Given the description of an element on the screen output the (x, y) to click on. 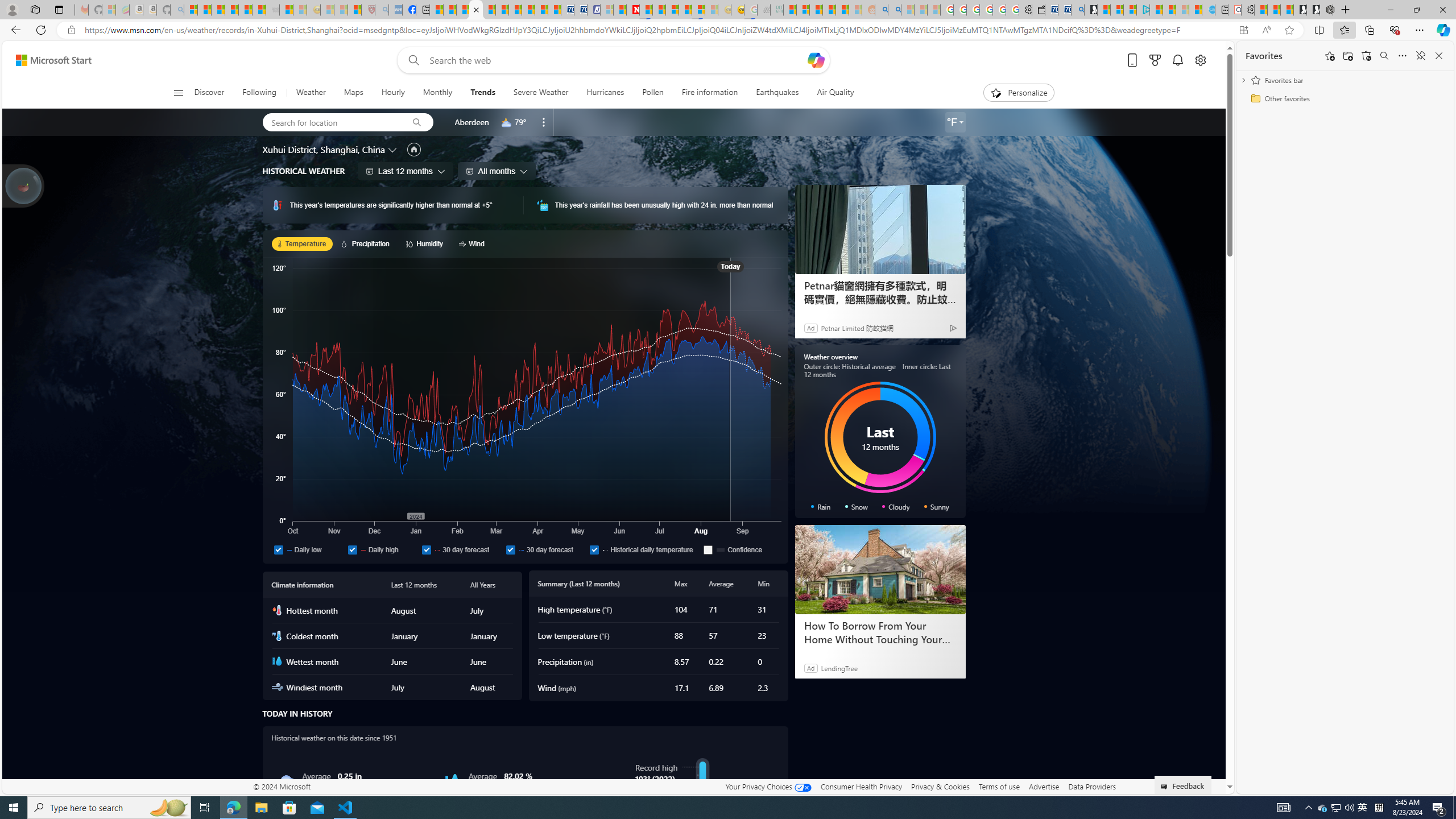
Class: feedback_link_icon-DS-EntryPoint1-1 (1165, 786)
Trends (482, 92)
Severe Weather (540, 92)
Add folder (1347, 55)
Confidence (708, 549)
Unpin favorites (1420, 55)
Student Loan Update: Forgiveness Program Ends This Month (842, 9)
The Weather Channel - MSN (218, 9)
Set as primary location (413, 149)
Maps (353, 92)
